Given the description of an element on the screen output the (x, y) to click on. 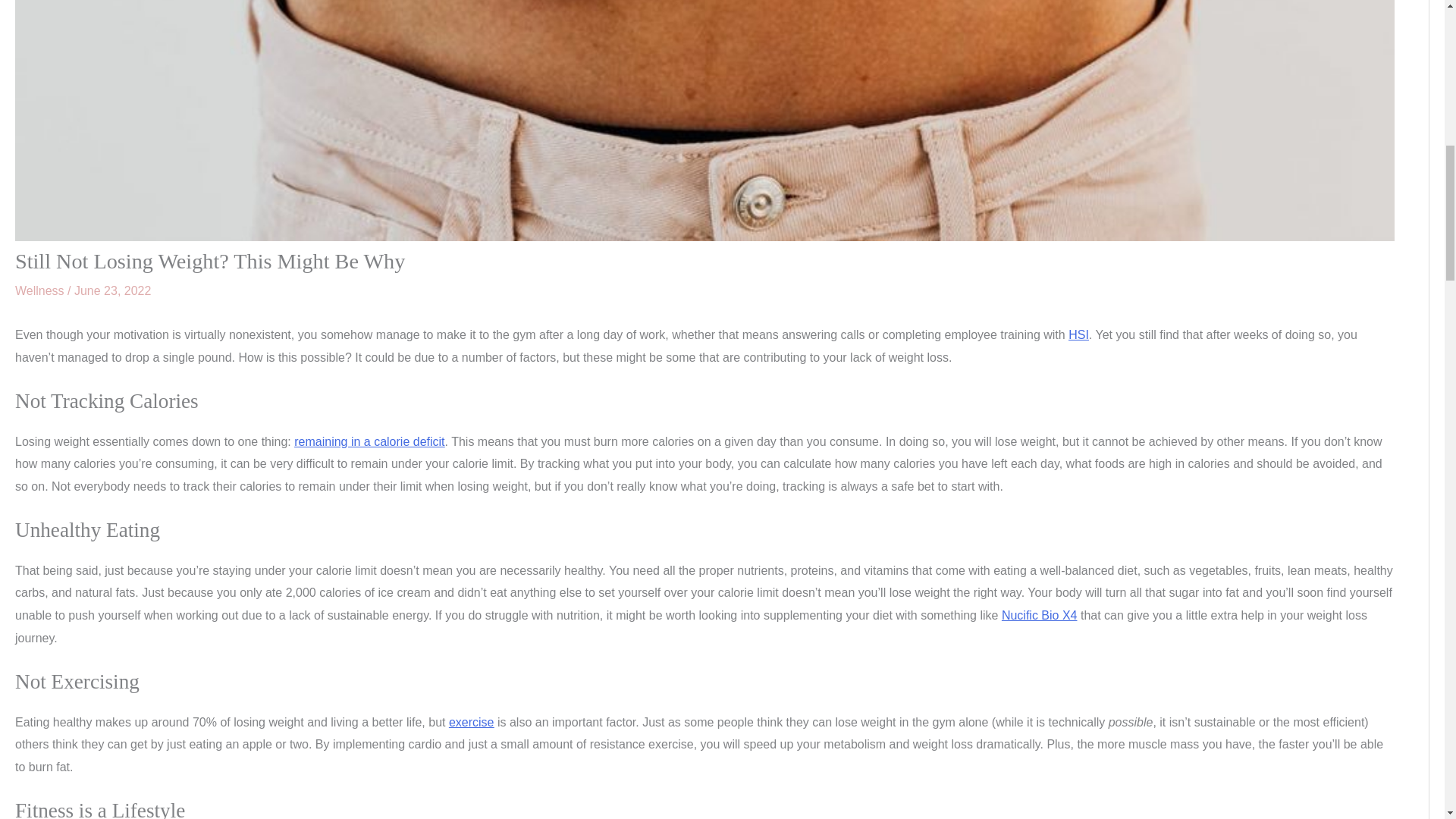
Wellness (39, 290)
exercise (471, 721)
HSI (1078, 334)
Nucific Bio X4 (1039, 615)
remaining in a calorie deficit (369, 440)
